Given the description of an element on the screen output the (x, y) to click on. 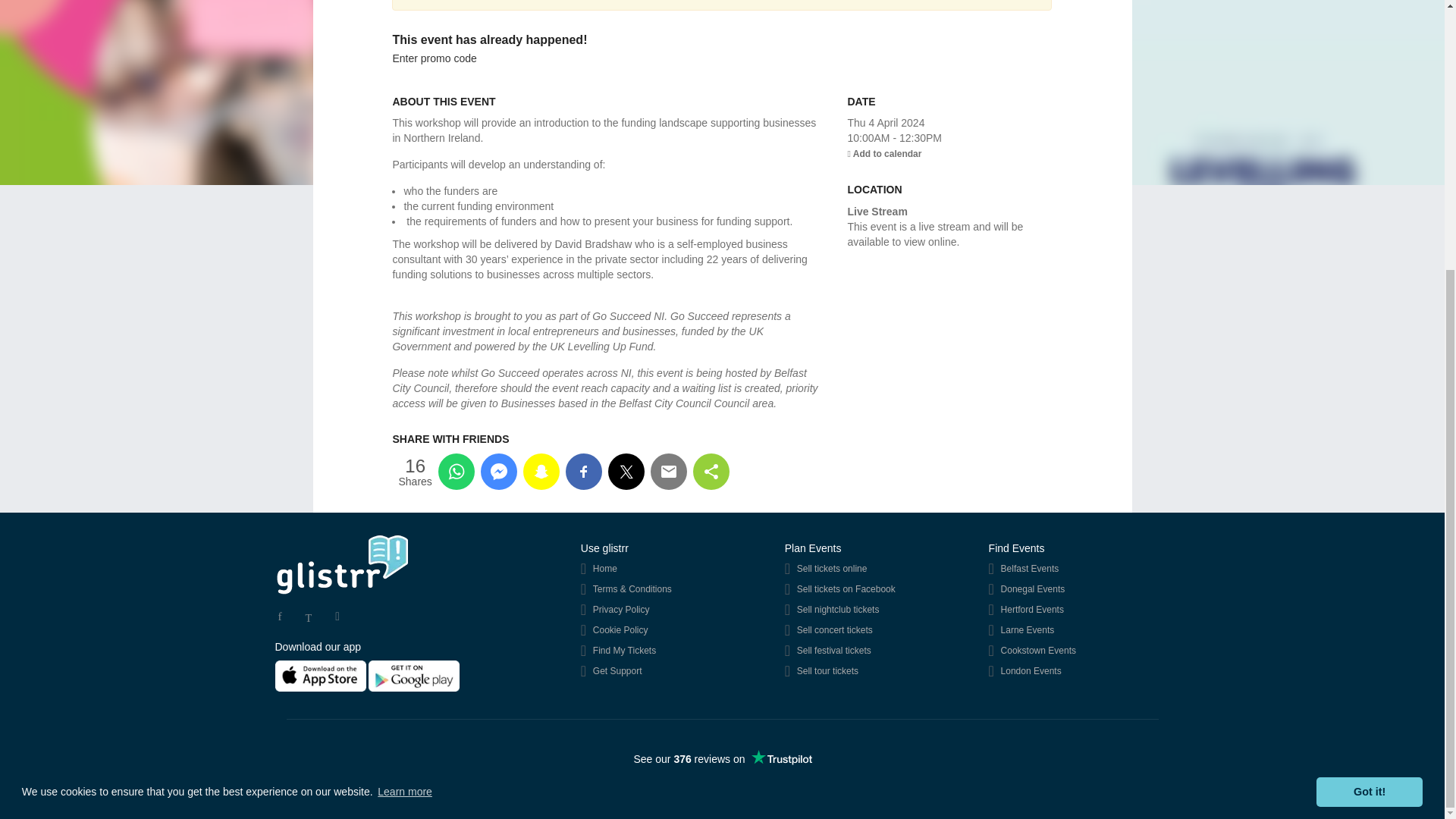
Download the glistrr iOS app (321, 674)
Customer reviews powered by Trustpilot (722, 759)
Download the glistrr Android app (414, 674)
Enter promo code (433, 58)
Add to calendar (884, 153)
Learn more (404, 397)
Got it! (1369, 398)
